Given the description of an element on the screen output the (x, y) to click on. 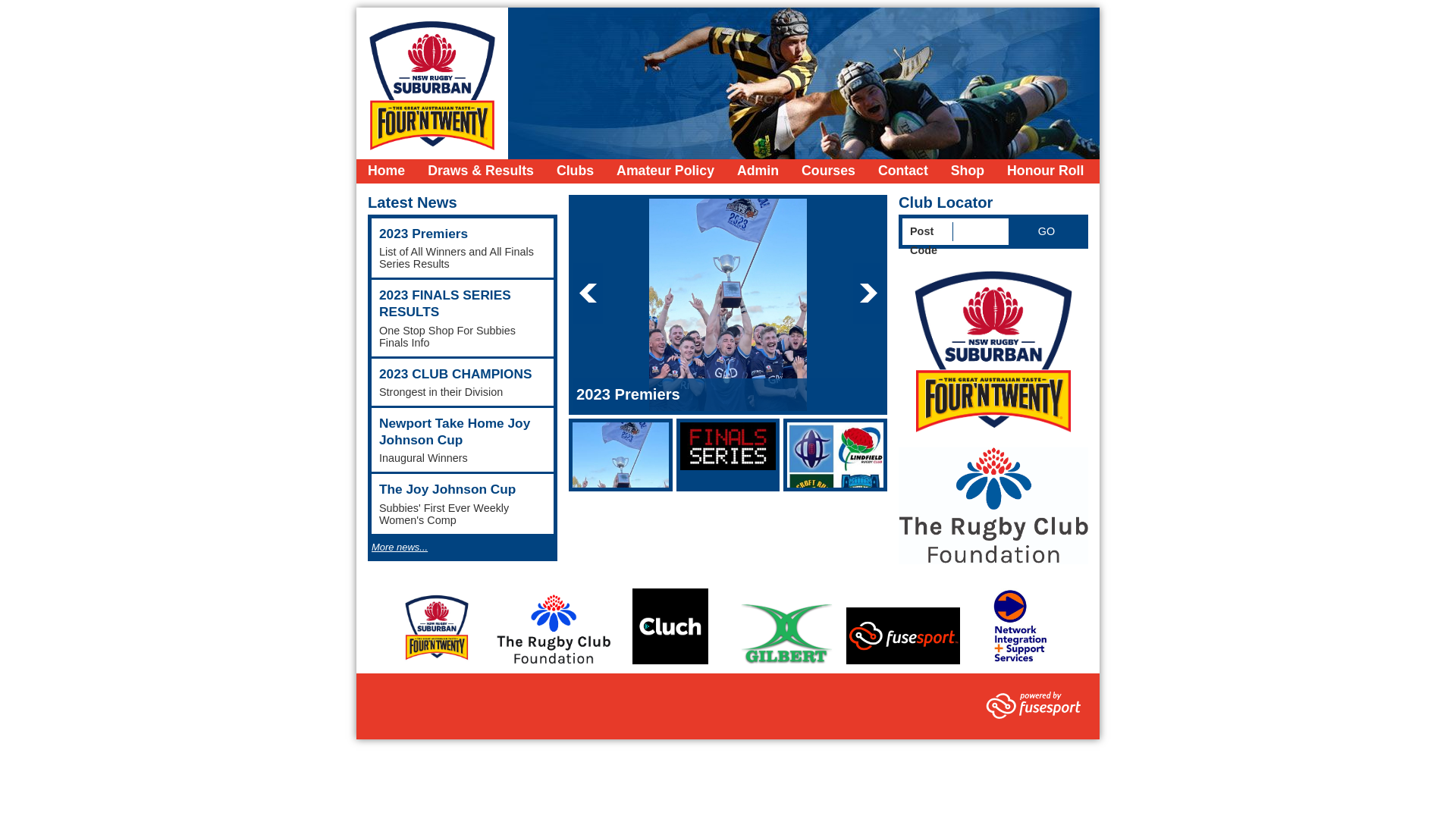
More news... Element type: text (399, 546)
Honour Roll Element type: text (1045, 171)
Amateur Policy Element type: text (665, 171)
Courses Element type: text (828, 171)
Contact Element type: text (902, 171)
Naming Rights Partner of Suburban Rugby Element type: hover (993, 348)
Go Element type: text (1046, 231)
Shop Element type: text (967, 171)
2023 CLUB CHAMPIONS
Strongest in their Division Element type: text (462, 382)
Sharing the Spirit of the Game Element type: hover (993, 505)
Admin Element type: text (757, 171)
Home Element type: text (386, 171)
Draws & Results Element type: text (480, 171)
Newport Take Home Joy Johnson Cup
Inaugural Winners Element type: text (462, 439)
2023 Premiers Element type: text (727, 393)
Clubs Element type: text (575, 171)
The Joy Johnson Cup
Subbies' First Ever Weekly Women's Comp Element type: text (462, 503)
